Given the description of an element on the screen output the (x, y) to click on. 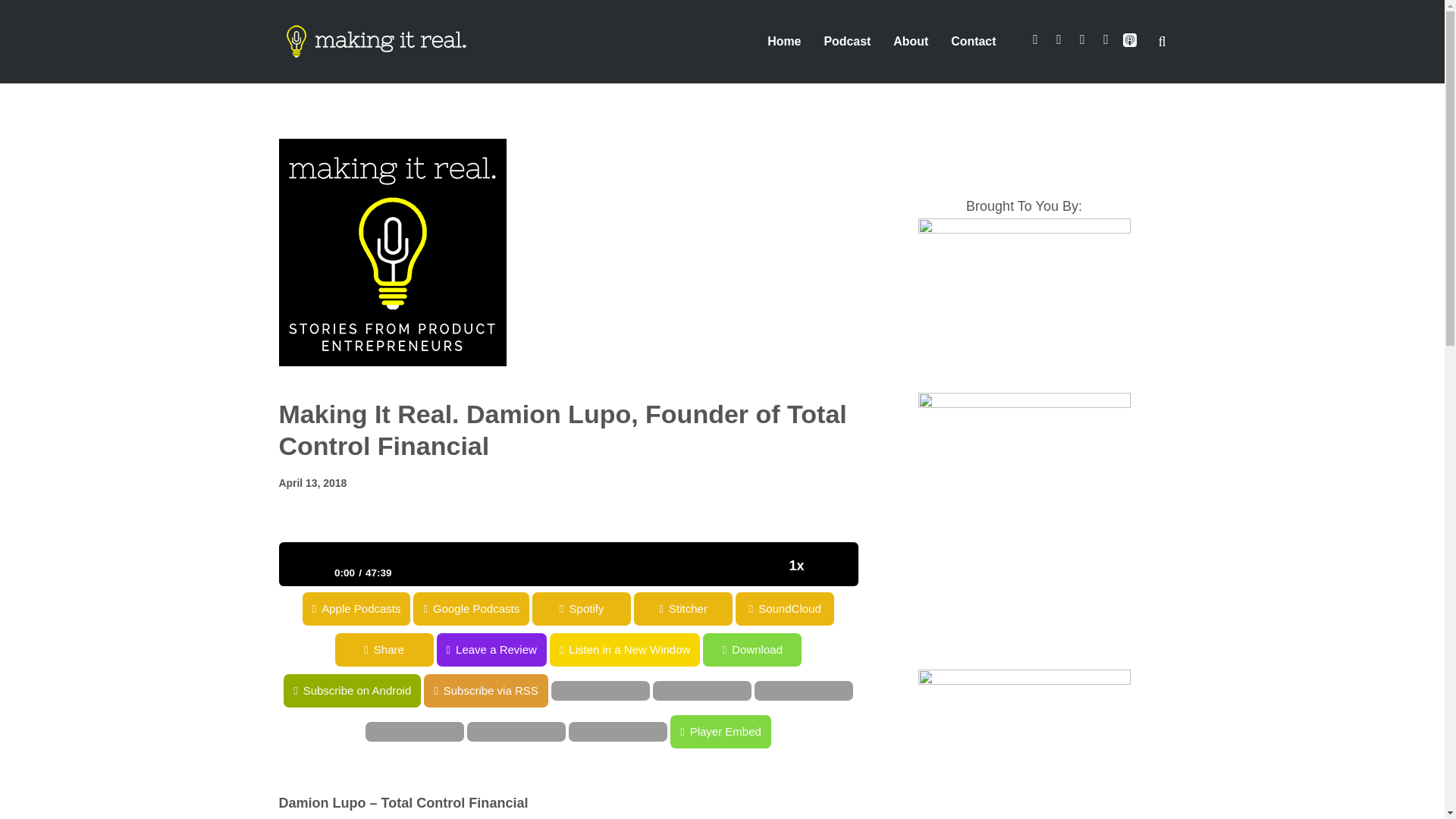
Podcast (847, 41)
Listen in a New Window (75, 649)
Google Podcasts (58, 608)
Player Embed (50, 731)
Share (567, 649)
Apple Podcasts (466, 608)
Spotify (632, 608)
